Given the description of an element on the screen output the (x, y) to click on. 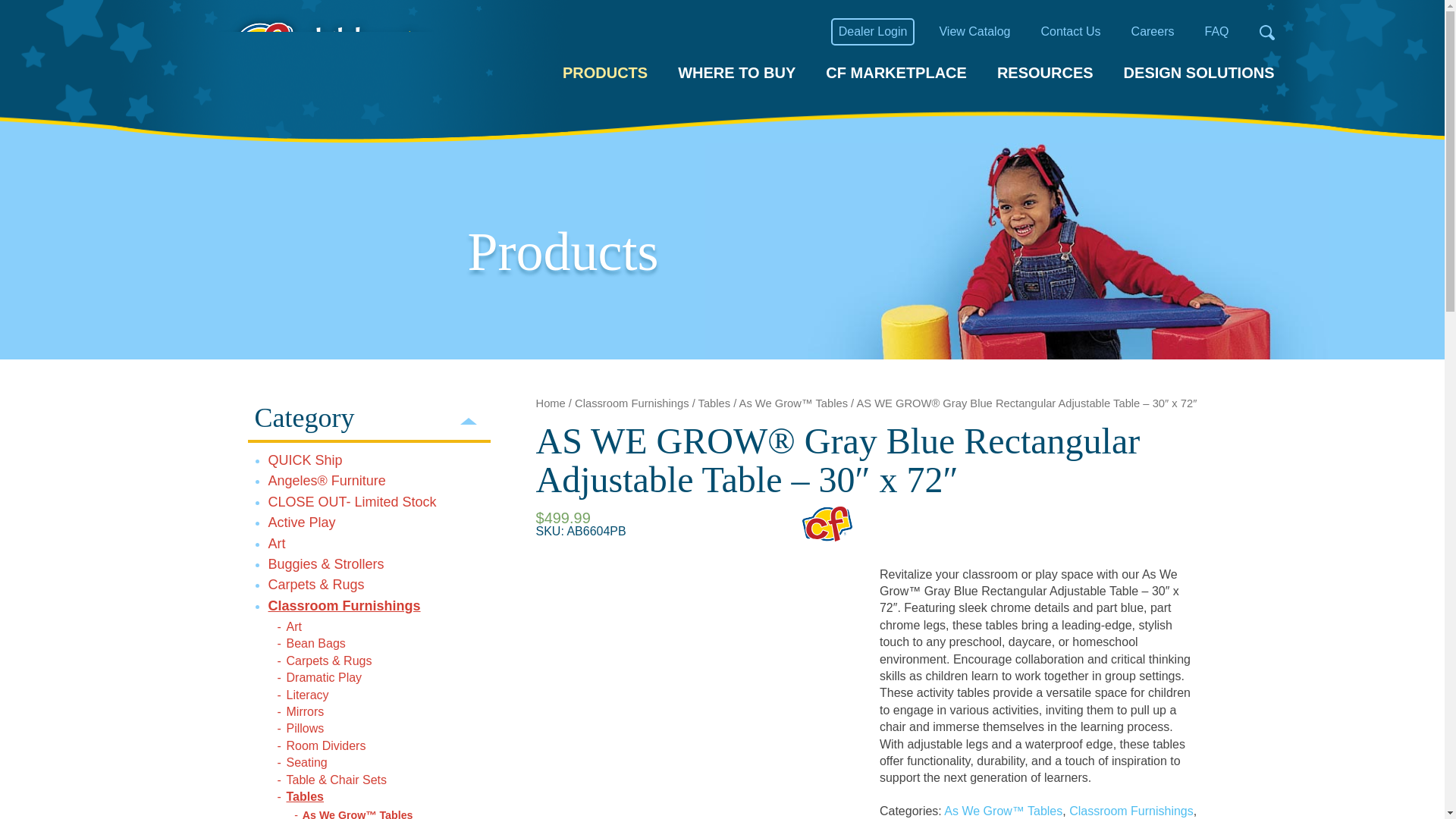
Children's Factory - where creative learning comes to play (333, 67)
CF MARKETPLACE (895, 71)
WHERE TO BUY (736, 71)
RESOURCES (1045, 71)
PRODUCTS (604, 71)
